Given the description of an element on the screen output the (x, y) to click on. 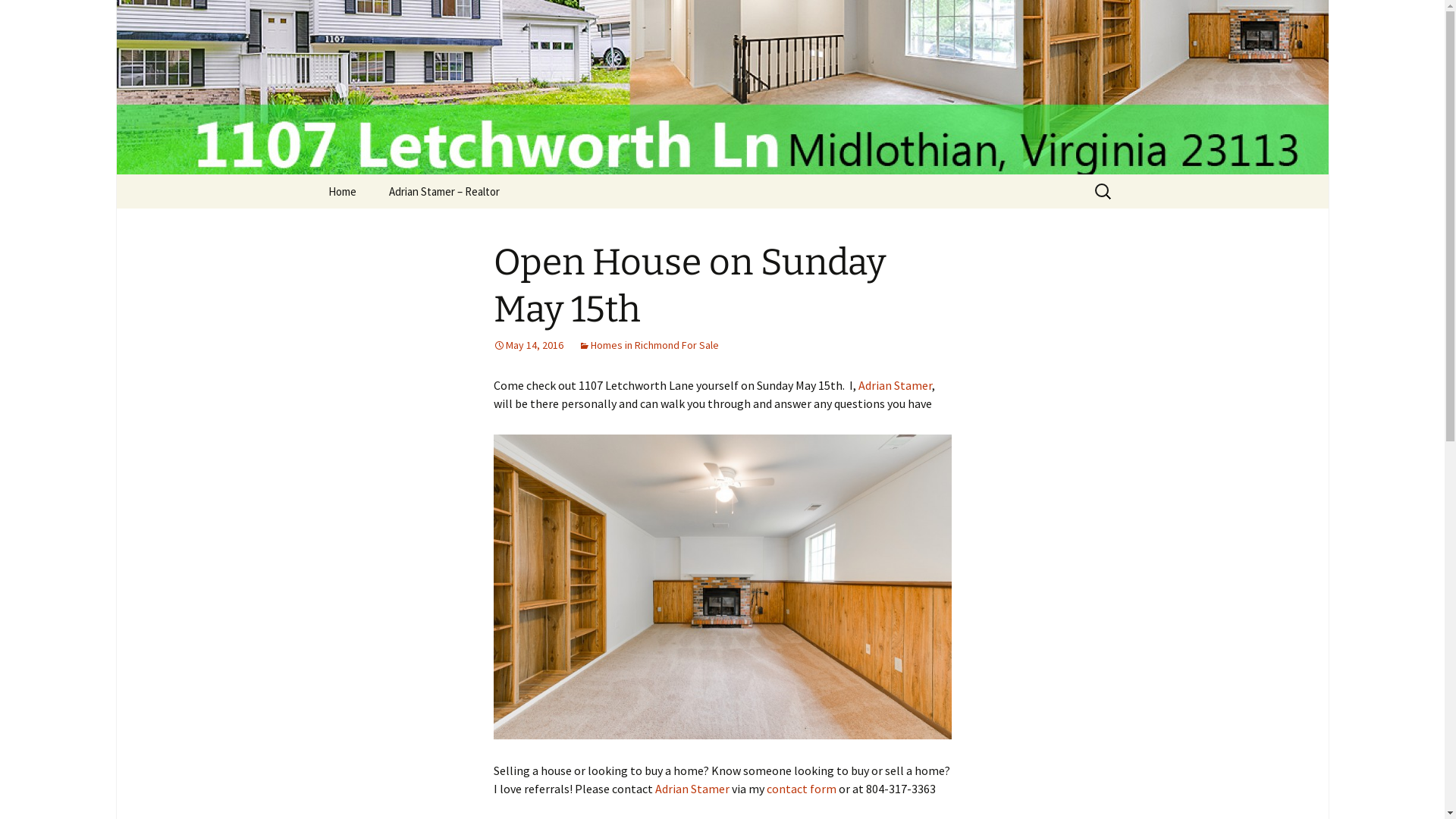
Adrian Stamer Element type: text (894, 384)
Skip to content Element type: text (352, 183)
Adrian Stamer Element type: text (692, 788)
Homes in Richmond For Sale Element type: text (647, 344)
Home Element type: text (341, 191)
contact form Element type: text (800, 788)
May 14, 2016 Element type: text (527, 344)
Search Element type: text (34, 15)
Search Element type: text (18, 16)
